Given the description of an element on the screen output the (x, y) to click on. 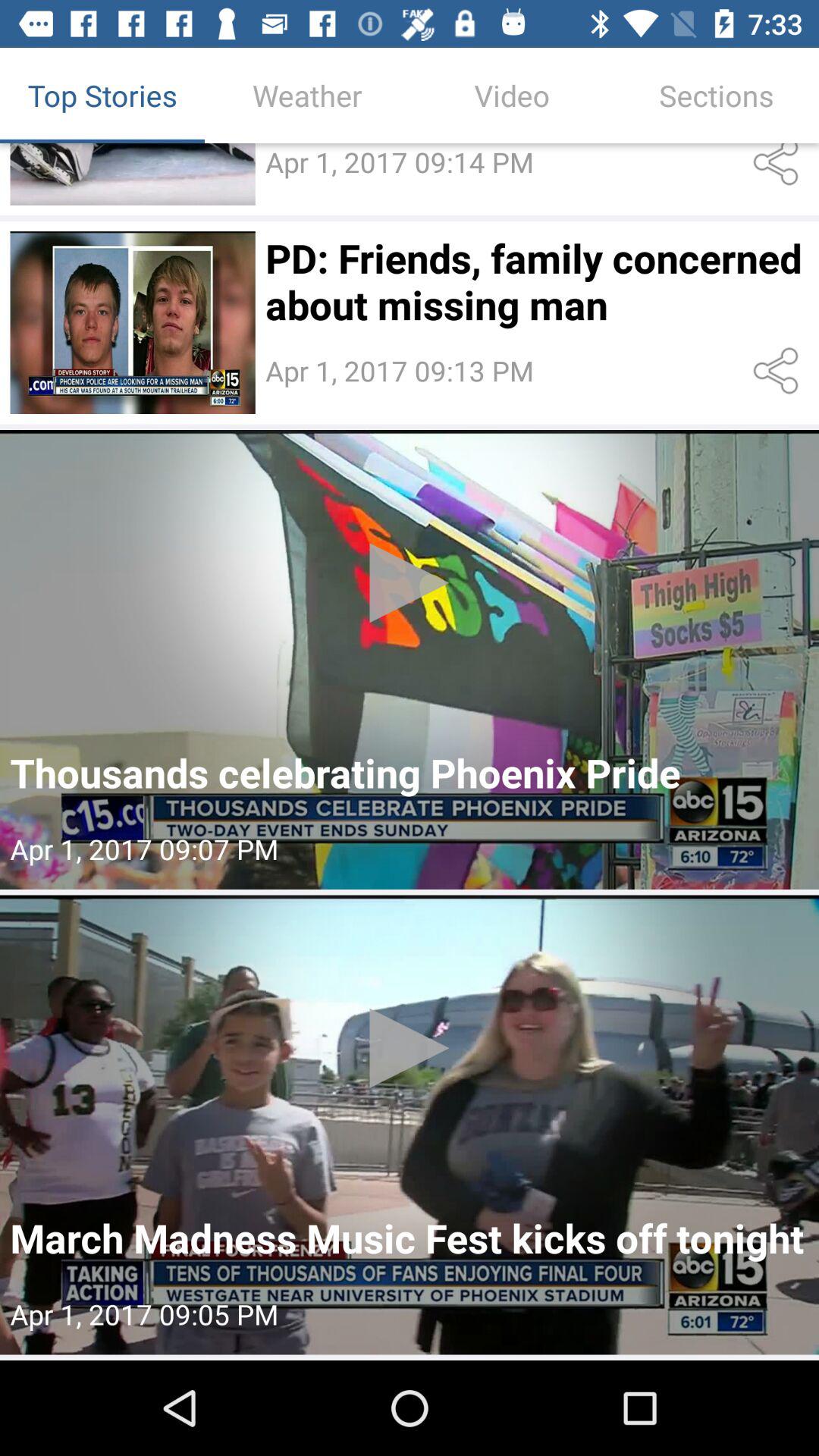
news feed tile visual description (132, 322)
